Given the description of an element on the screen output the (x, y) to click on. 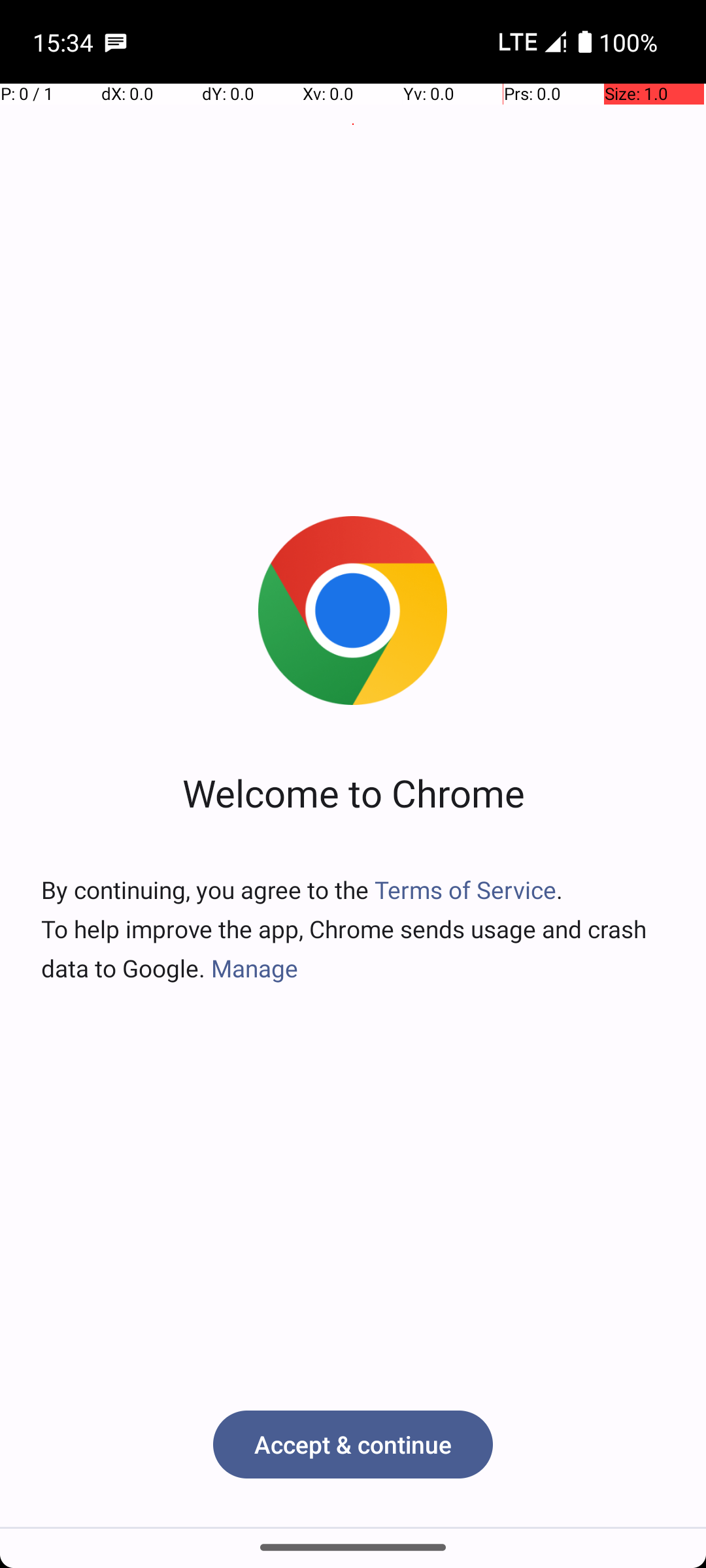
By continuing, you agree to the Terms of Service.
To help improve the app, Chrome sends usage and crash data to Google. Manage Element type: android.widget.TextView (352, 928)
